Given the description of an element on the screen output the (x, y) to click on. 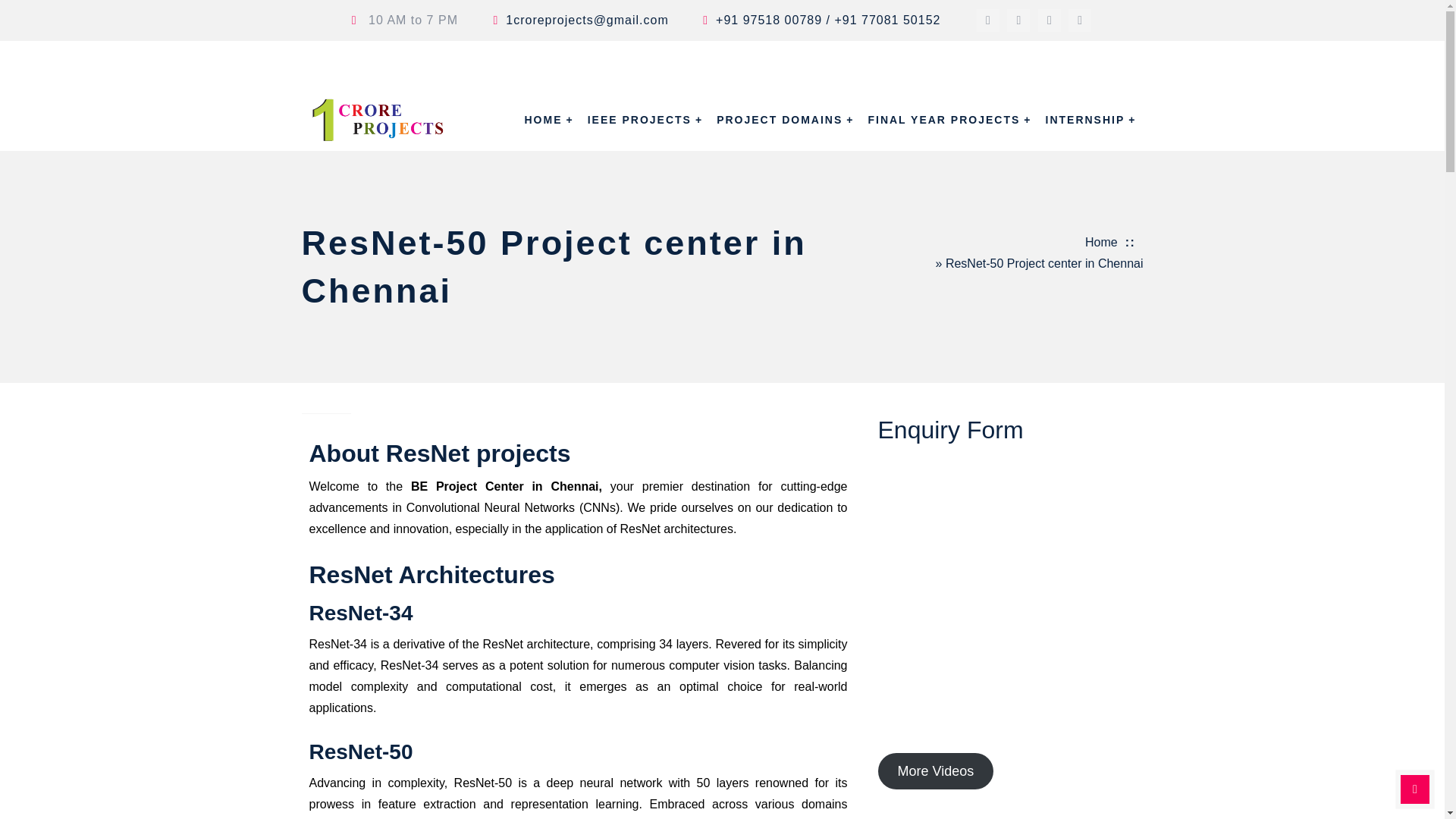
YouTube video player (1009, 592)
HOME (548, 119)
IEEE PROJECTS (644, 119)
